Given the description of an element on the screen output the (x, y) to click on. 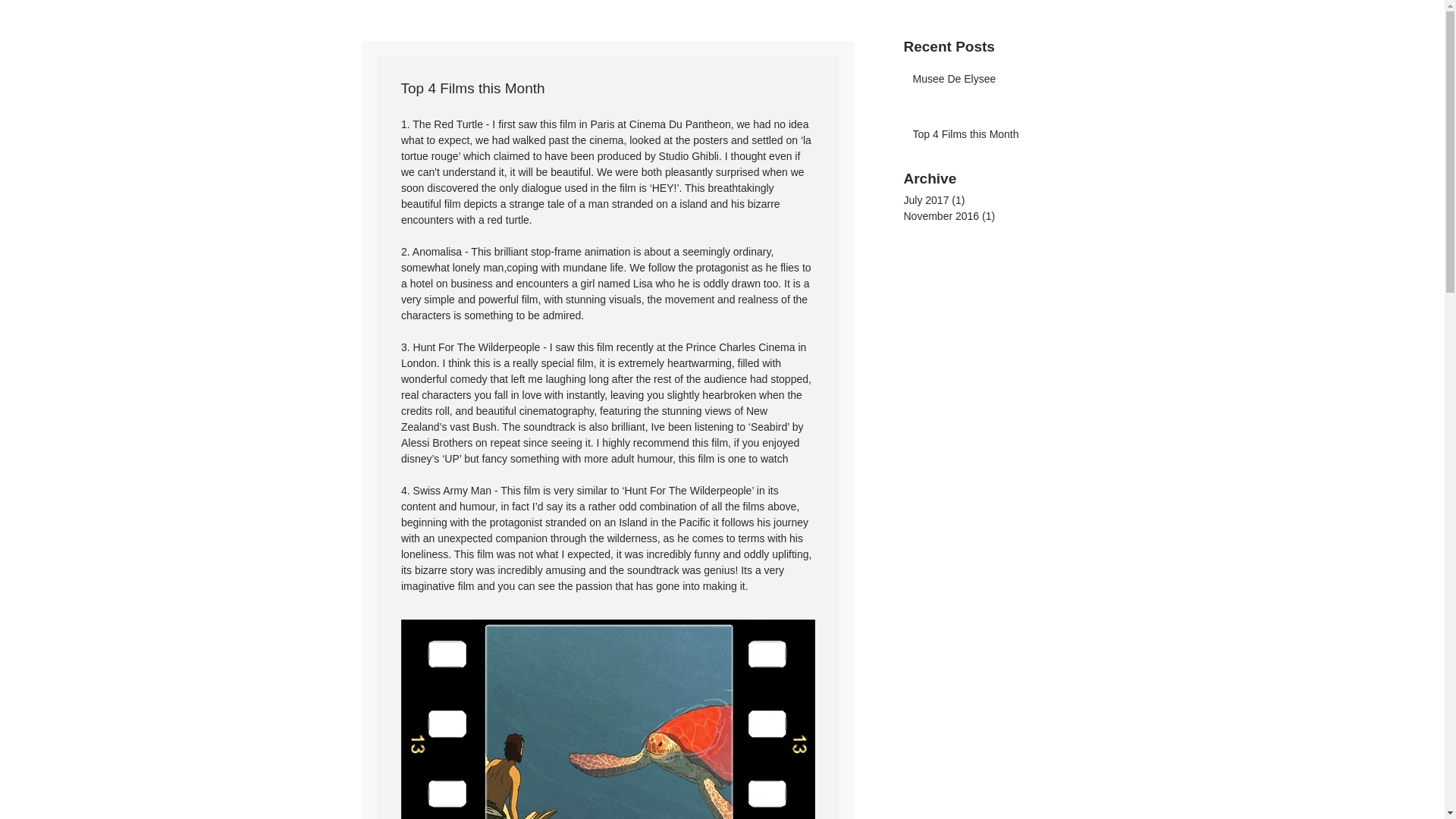
Musee De Elysee (981, 82)
Top 4 Films this Month (981, 137)
